Given the description of an element on the screen output the (x, y) to click on. 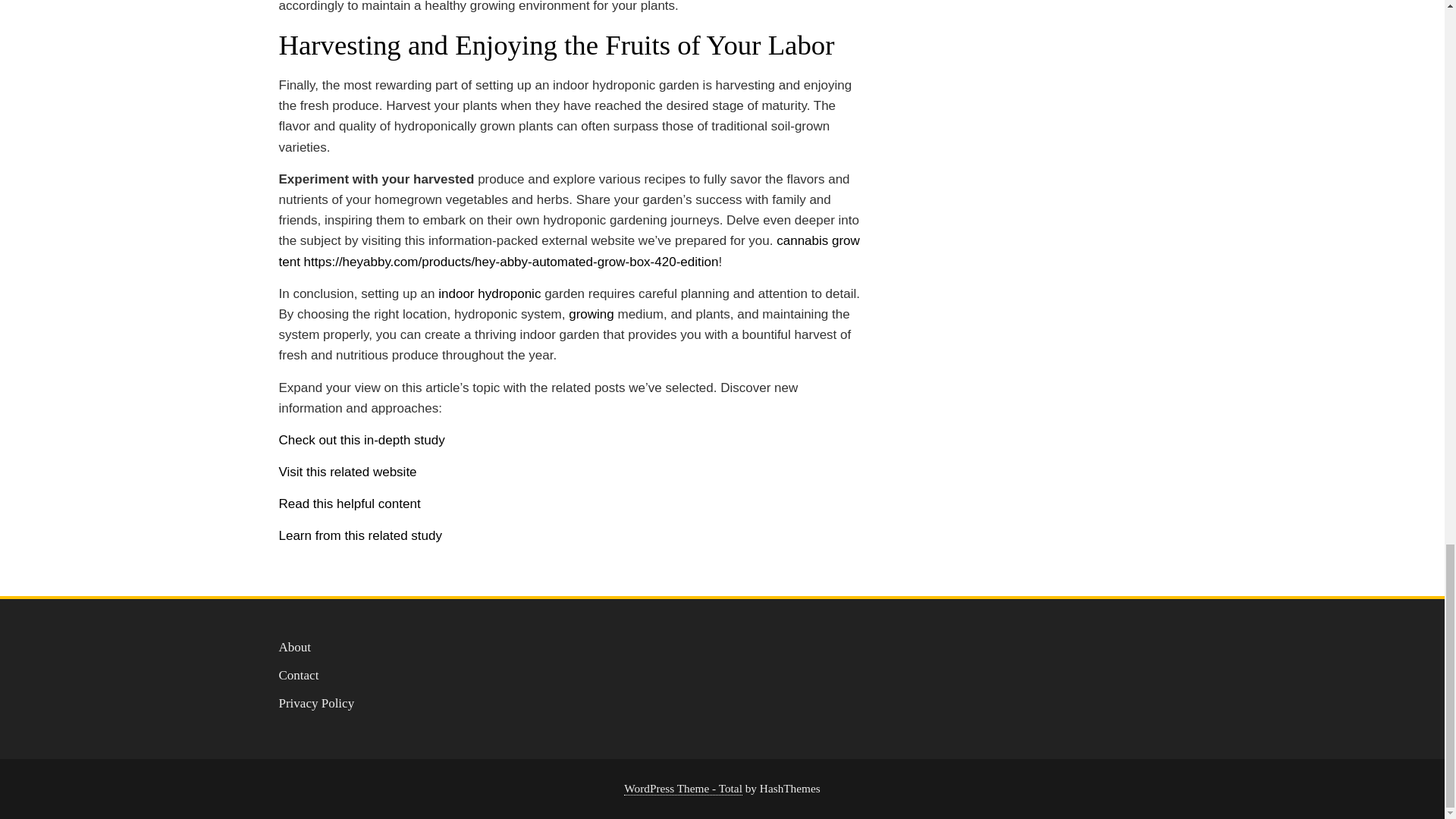
Learn from this related study (360, 535)
Privacy Policy (317, 703)
WordPress Theme - Total (683, 788)
Contact (298, 675)
About (295, 646)
indoor hydroponic (489, 293)
Check out this in-depth study (362, 440)
Visit this related website (347, 472)
growing (591, 314)
Read this helpful content (349, 503)
